Given the description of an element on the screen output the (x, y) to click on. 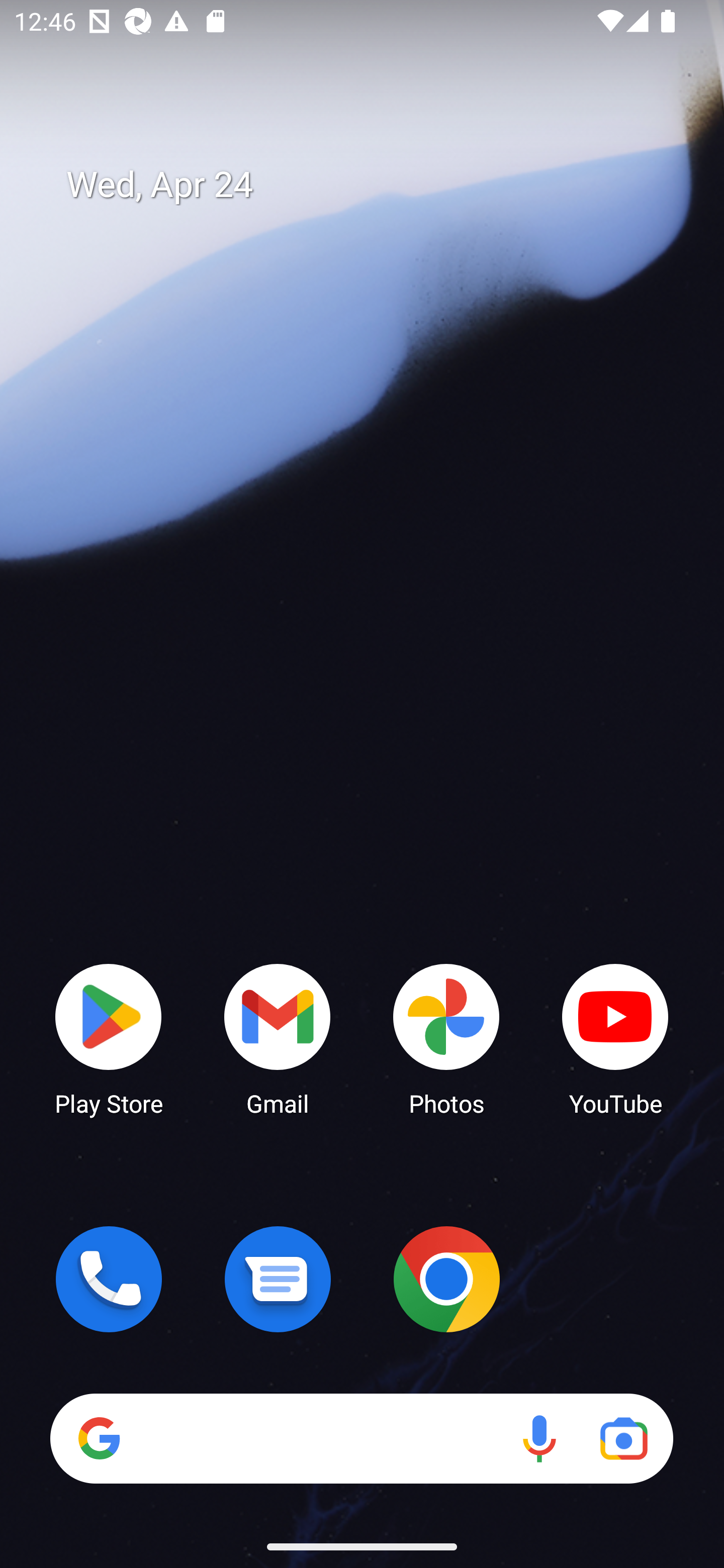
Wed, Apr 24 (375, 184)
Play Store (108, 1038)
Gmail (277, 1038)
Photos (445, 1038)
YouTube (615, 1038)
Phone (108, 1279)
Messages (277, 1279)
Chrome (446, 1279)
Search Voice search Google Lens (361, 1438)
Voice search (539, 1438)
Google Lens (623, 1438)
